Given the description of an element on the screen output the (x, y) to click on. 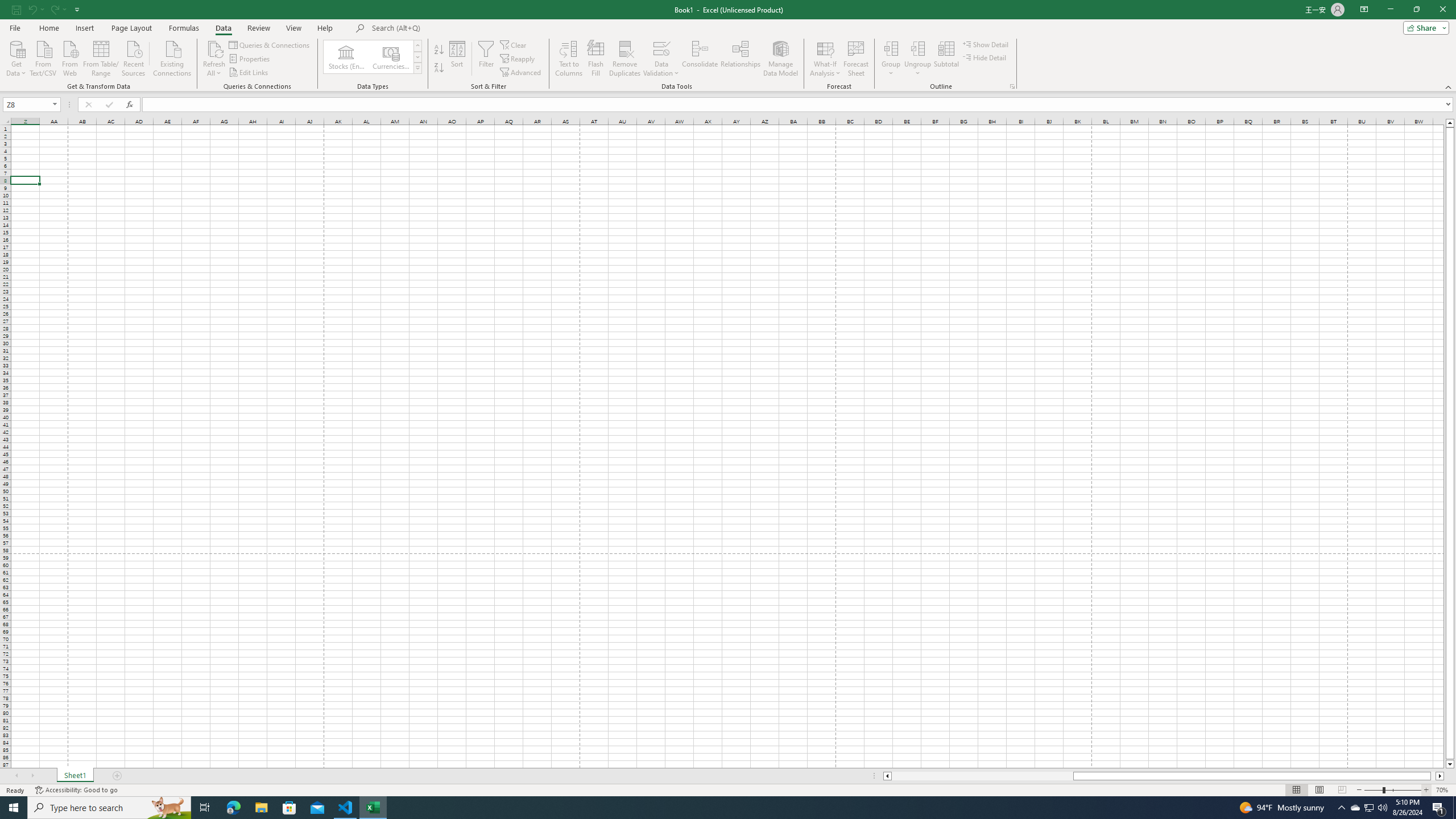
Consolidate... (700, 58)
Currencies (English) (390, 56)
Sort Z to A (438, 67)
Group and Outline Settings (1011, 85)
